Given the description of an element on the screen output the (x, y) to click on. 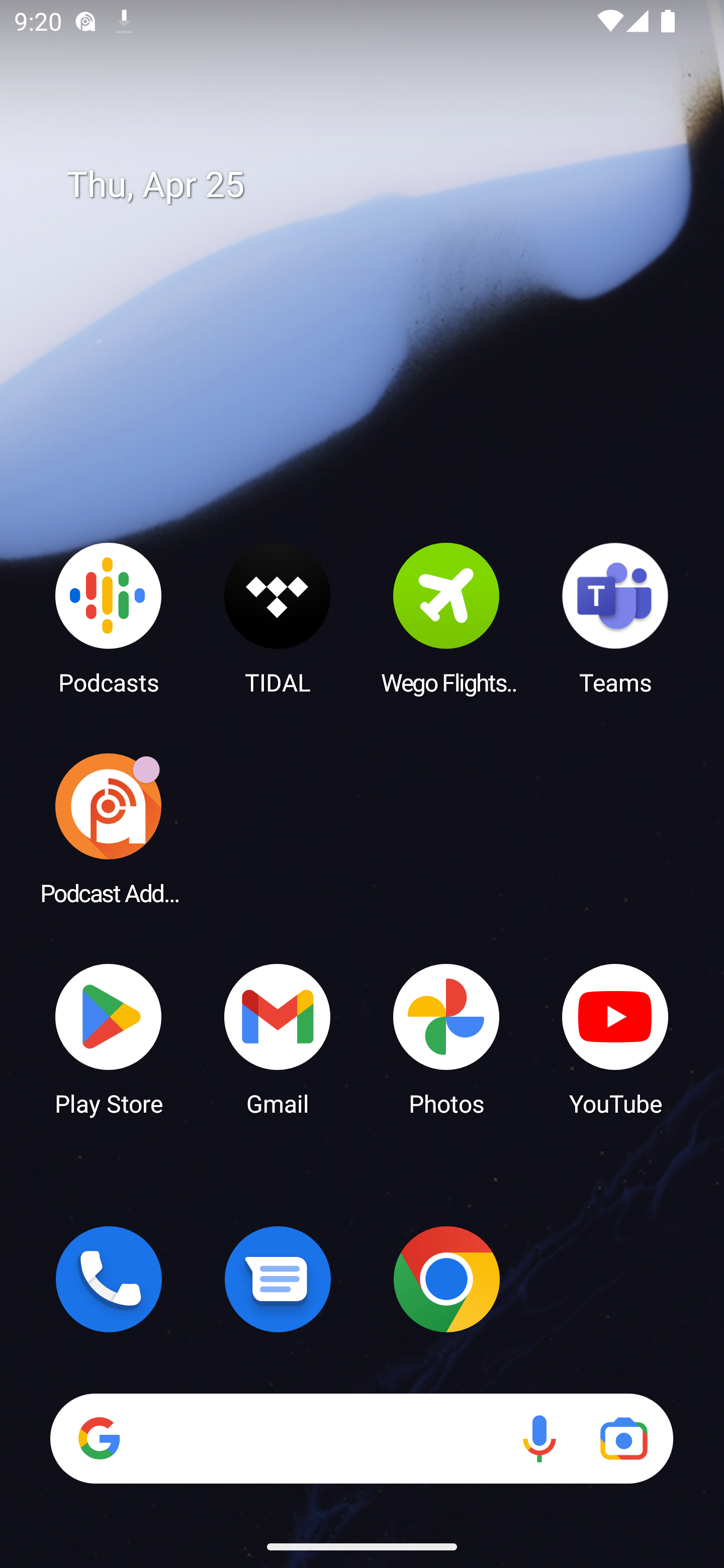
Thu, Apr 25 (375, 184)
Podcasts (108, 617)
TIDAL (277, 617)
Wego Flights & Hotels (445, 617)
Teams (615, 617)
Play Store (108, 1038)
Gmail (277, 1038)
Photos (445, 1038)
YouTube (615, 1038)
Phone (108, 1279)
Messages (277, 1279)
Chrome (446, 1279)
Search Voice search Google Lens (361, 1438)
Voice search (539, 1438)
Google Lens (623, 1438)
